Given the description of an element on the screen output the (x, y) to click on. 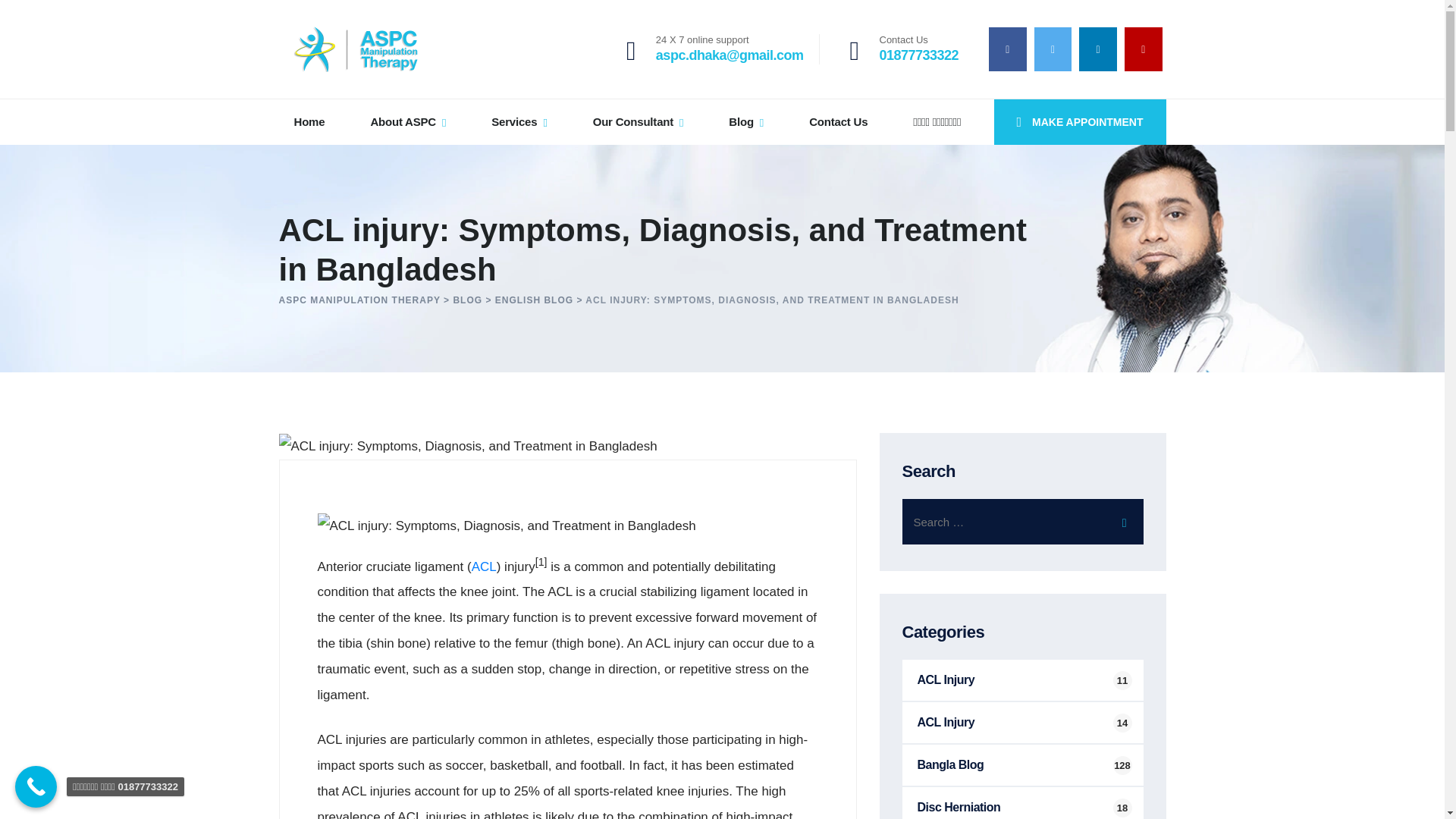
Go to ASPC Manipulation Therapy. (360, 299)
Contact Us (838, 121)
BLOG (466, 299)
ACL (483, 565)
ASPC MANIPULATION THERAPY (360, 299)
Go to the English Blog Category archives. (919, 49)
ENGLISH BLOG (534, 299)
Go to Blog. (534, 299)
ASPC Manipulation Therapy (466, 299)
Services (354, 49)
MAKE APPOINTMENT (519, 121)
ACL injury: Symptoms, Diagnosis, and Treatment in Bangladesh (1080, 121)
About ASPC (506, 525)
Our Consultant (407, 121)
